Given the description of an element on the screen output the (x, y) to click on. 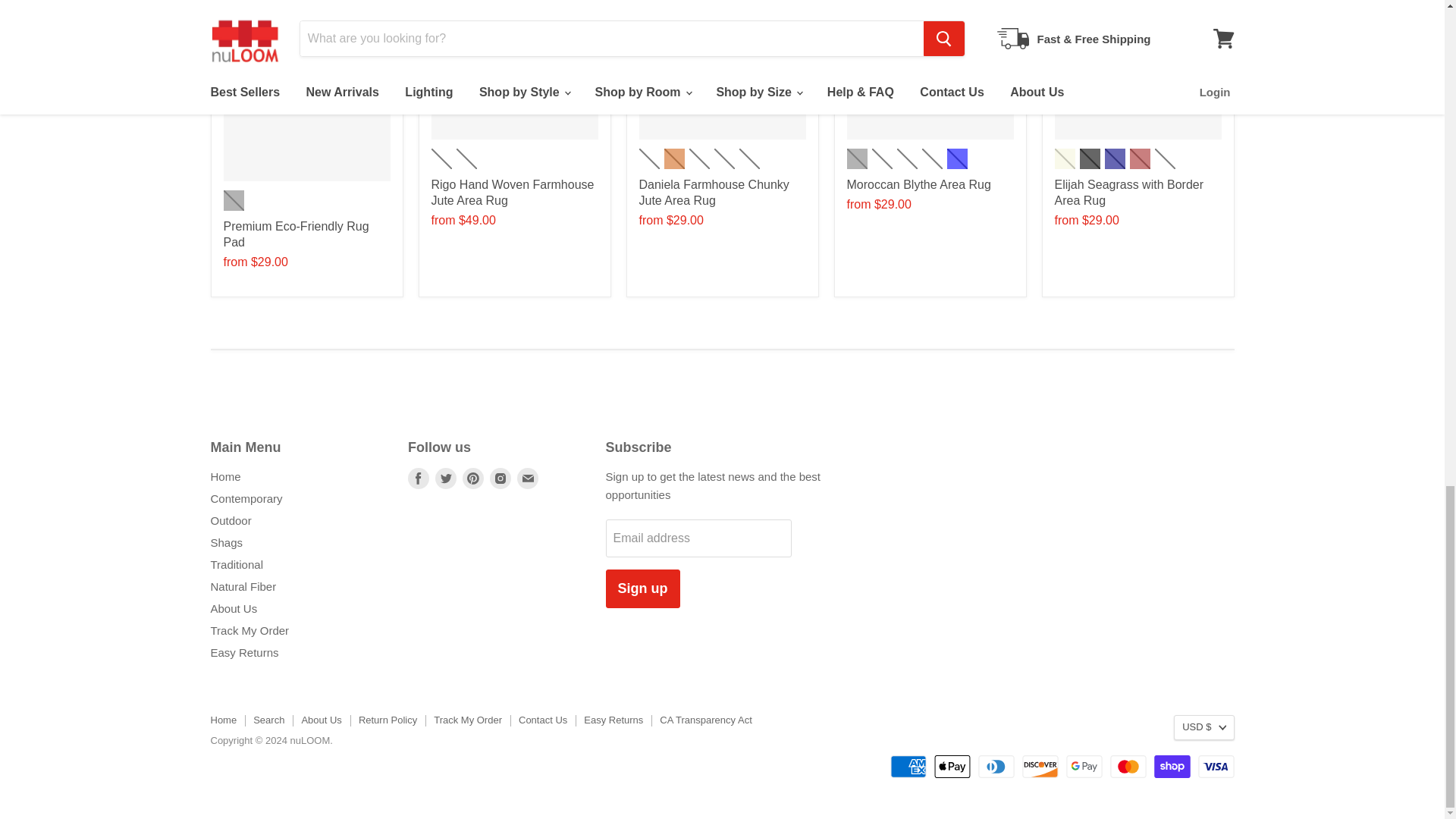
Twitter (446, 477)
American Express (907, 766)
Instagram (500, 477)
Facebook (418, 477)
Apple Pay (952, 766)
Diners Club (996, 766)
Email (527, 477)
Pinterest (473, 477)
